Given the description of an element on the screen output the (x, y) to click on. 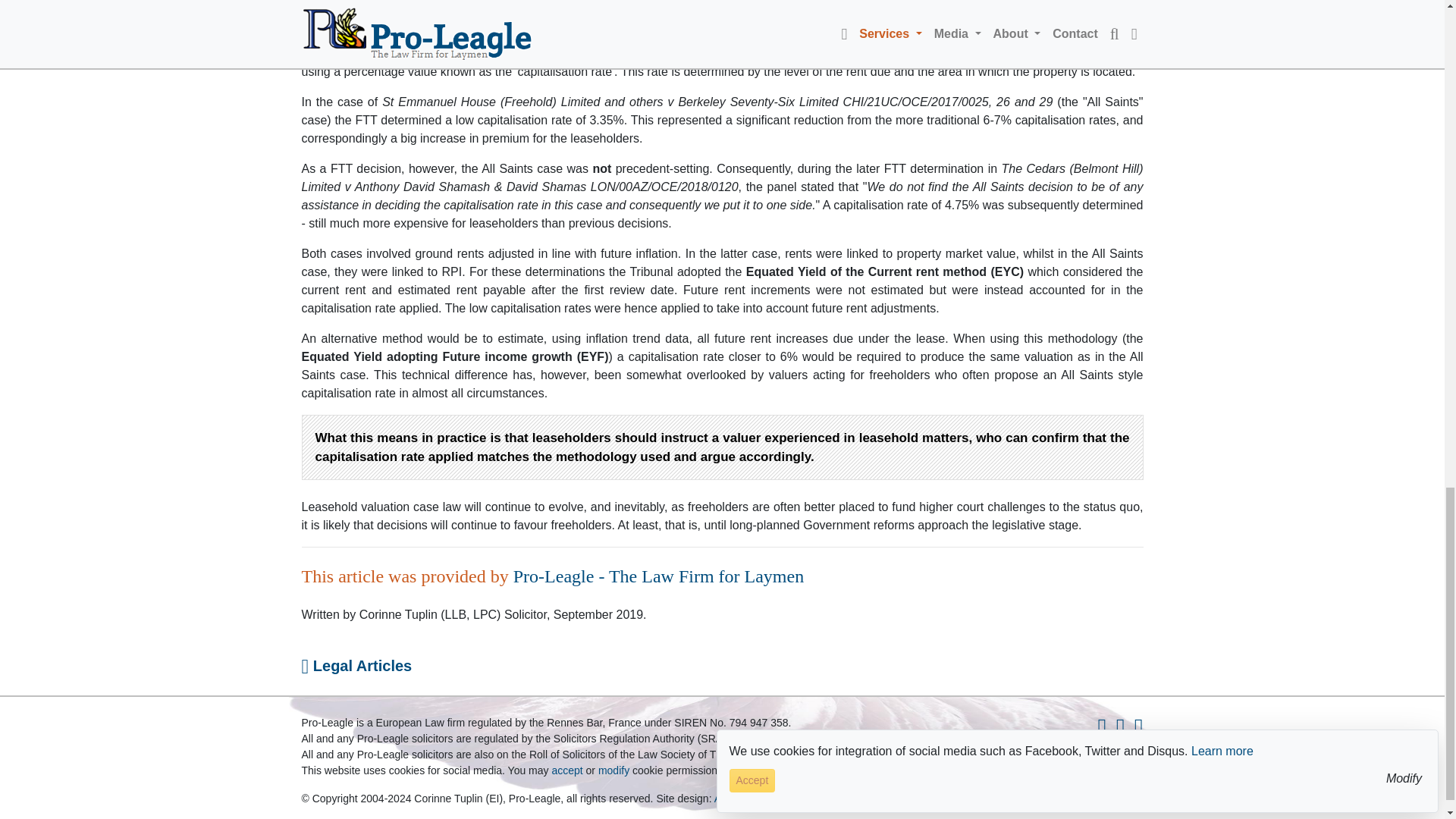
Pro-Leagle - The Law Firm for Laymen (658, 576)
 Legal Articles (356, 665)
ADKline.Design (751, 798)
Legal Articles (356, 665)
Terms and Conditions of use. (892, 770)
